Given the description of an element on the screen output the (x, y) to click on. 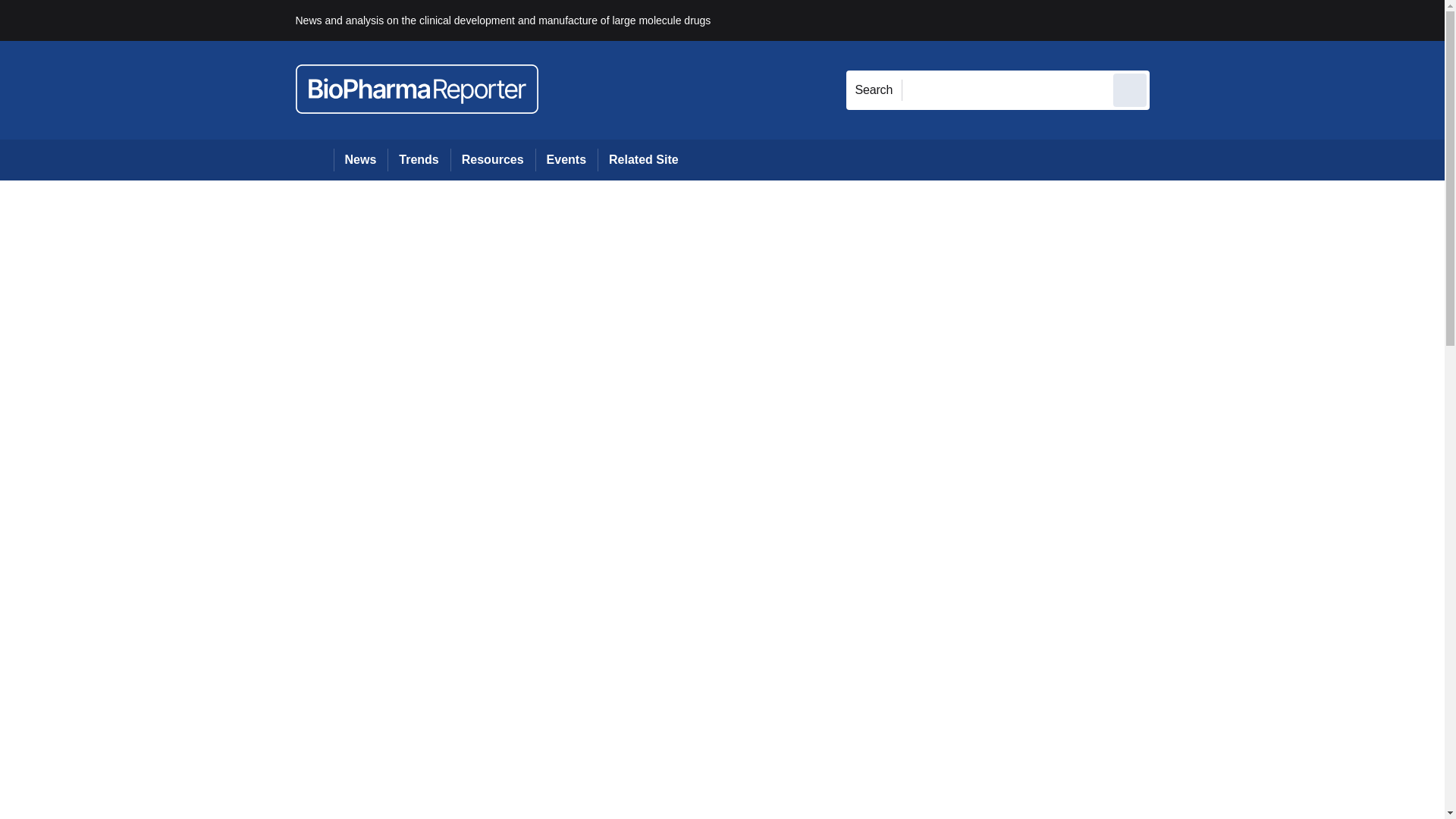
BioPharmaReporter (416, 89)
Sign out (1174, 20)
Home (313, 159)
News (360, 159)
Resources (492, 159)
REGISTER (1250, 20)
Home (314, 159)
Send (1129, 89)
Trends (418, 159)
Sign in (1171, 20)
